Given the description of an element on the screen output the (x, y) to click on. 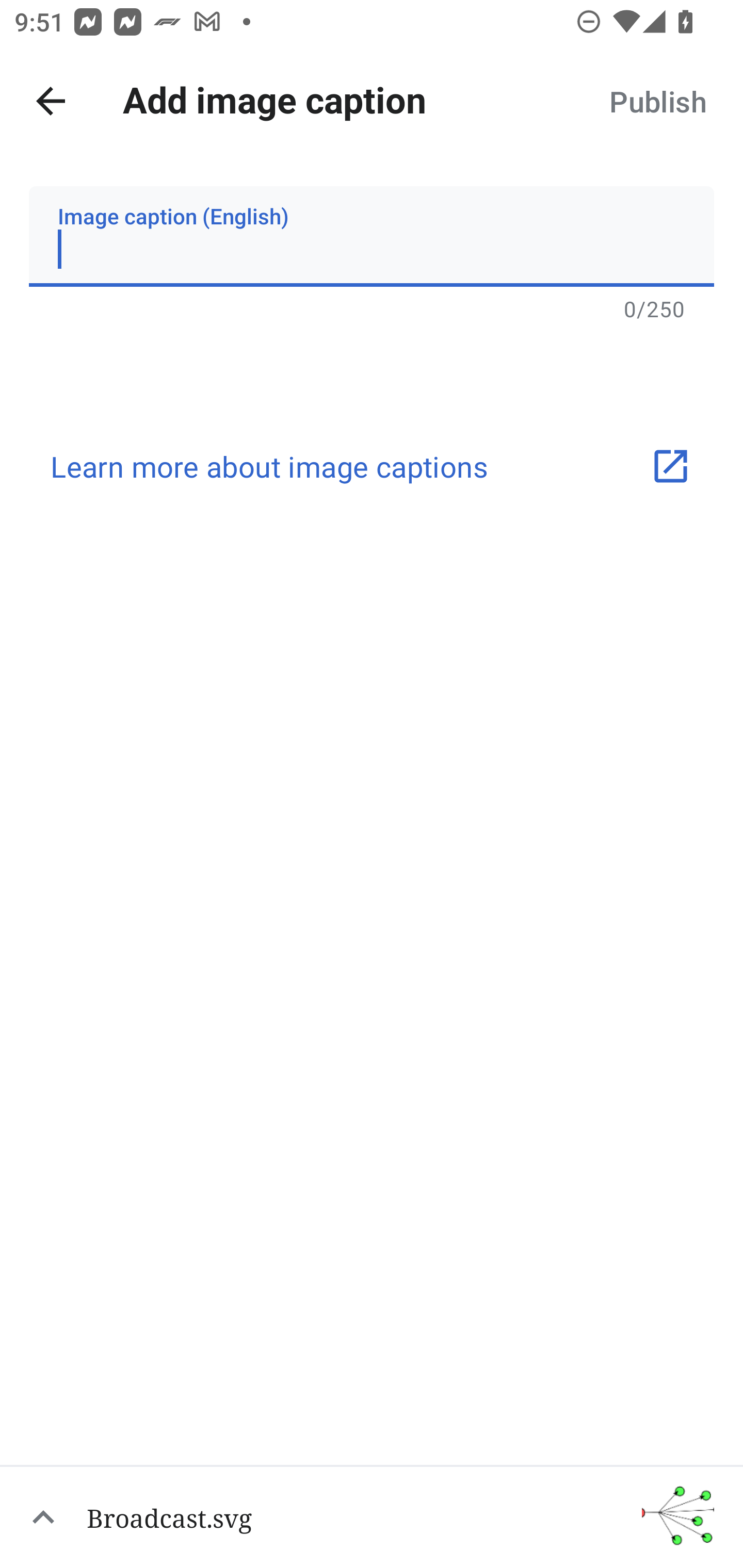
Cancel (50, 101)
Publish (657, 101)
Image caption (English) (371, 236)
Learn more about image captions (371, 466)
Broadcast.svg (371, 1516)
